Given the description of an element on the screen output the (x, y) to click on. 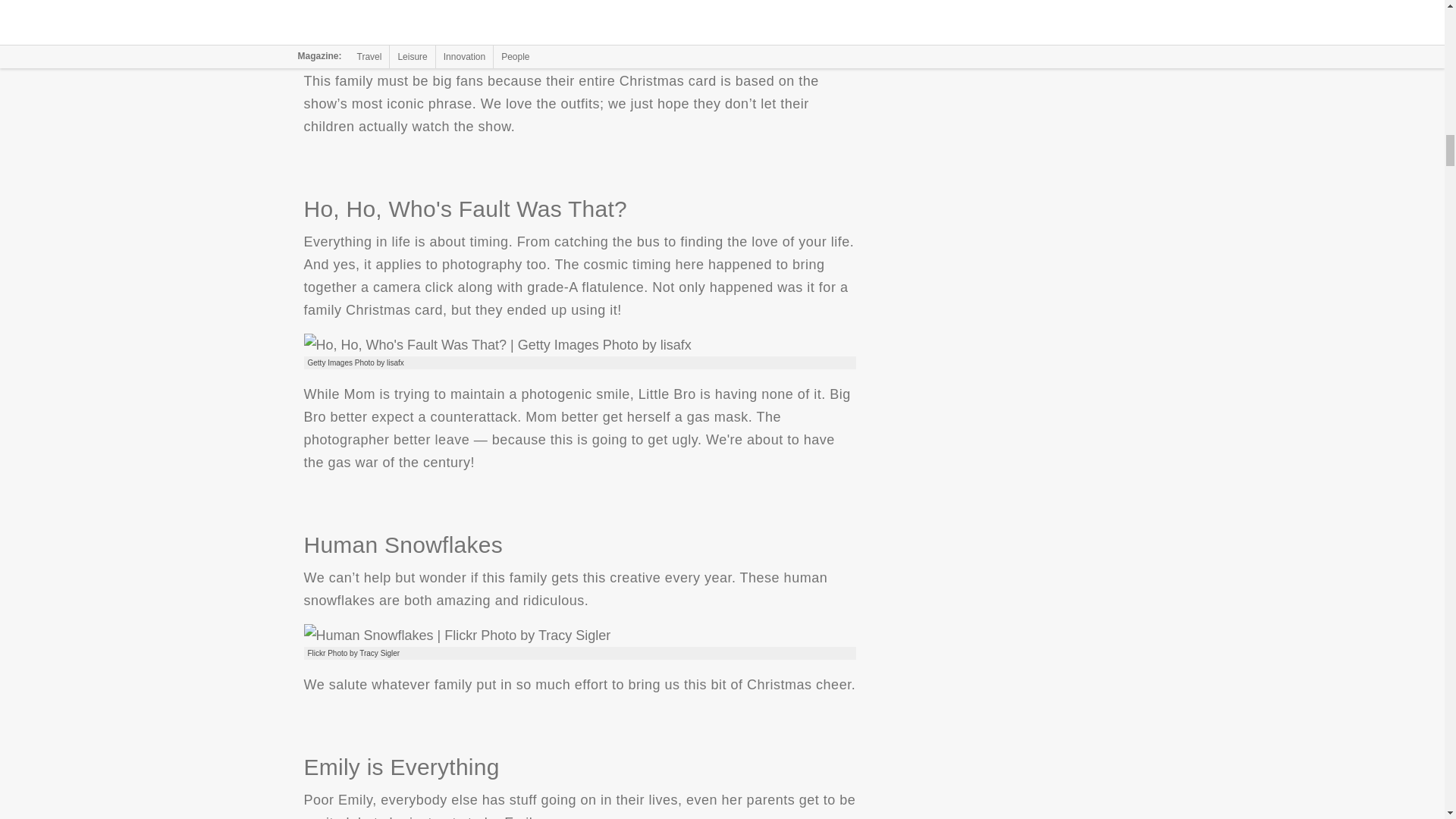
Ho, Ho, Who's Fault Was That? (496, 344)
Christmas is Coming (437, 31)
Human Snowflakes (456, 635)
